Given the description of an element on the screen output the (x, y) to click on. 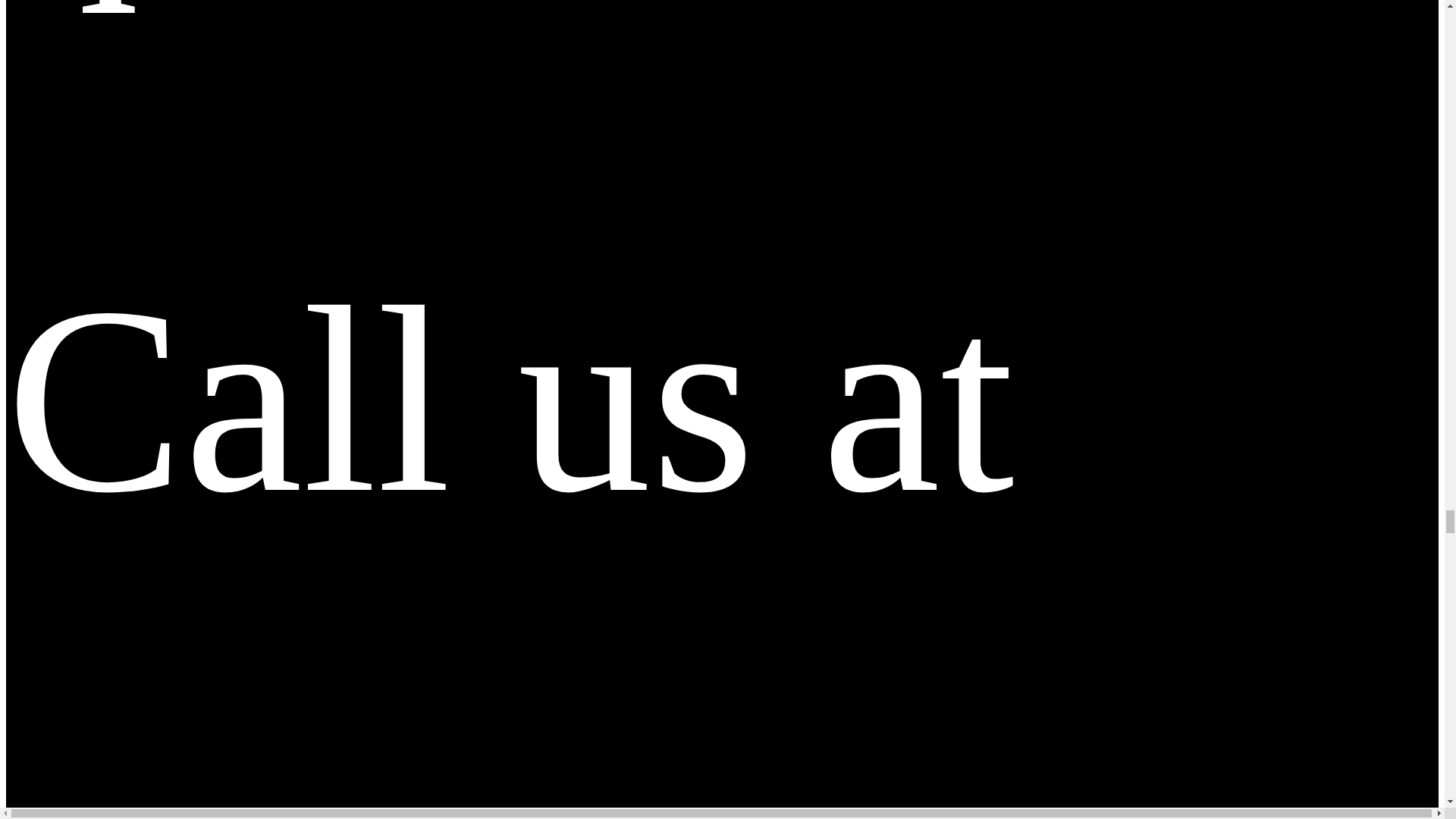
905-479-4459 (494, 802)
